Given the description of an element on the screen output the (x, y) to click on. 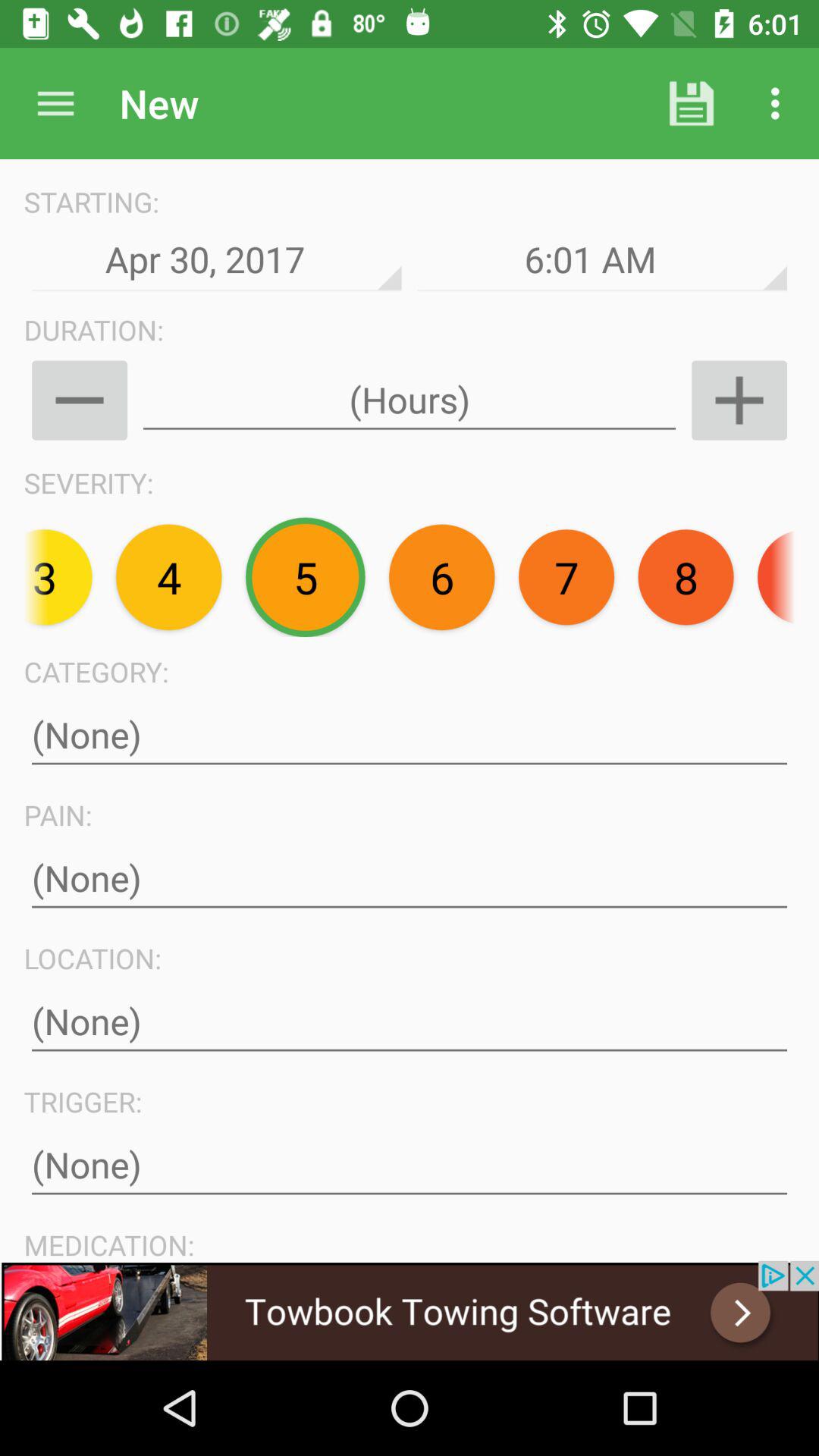
setting bar option (55, 103)
